Given the description of an element on the screen output the (x, y) to click on. 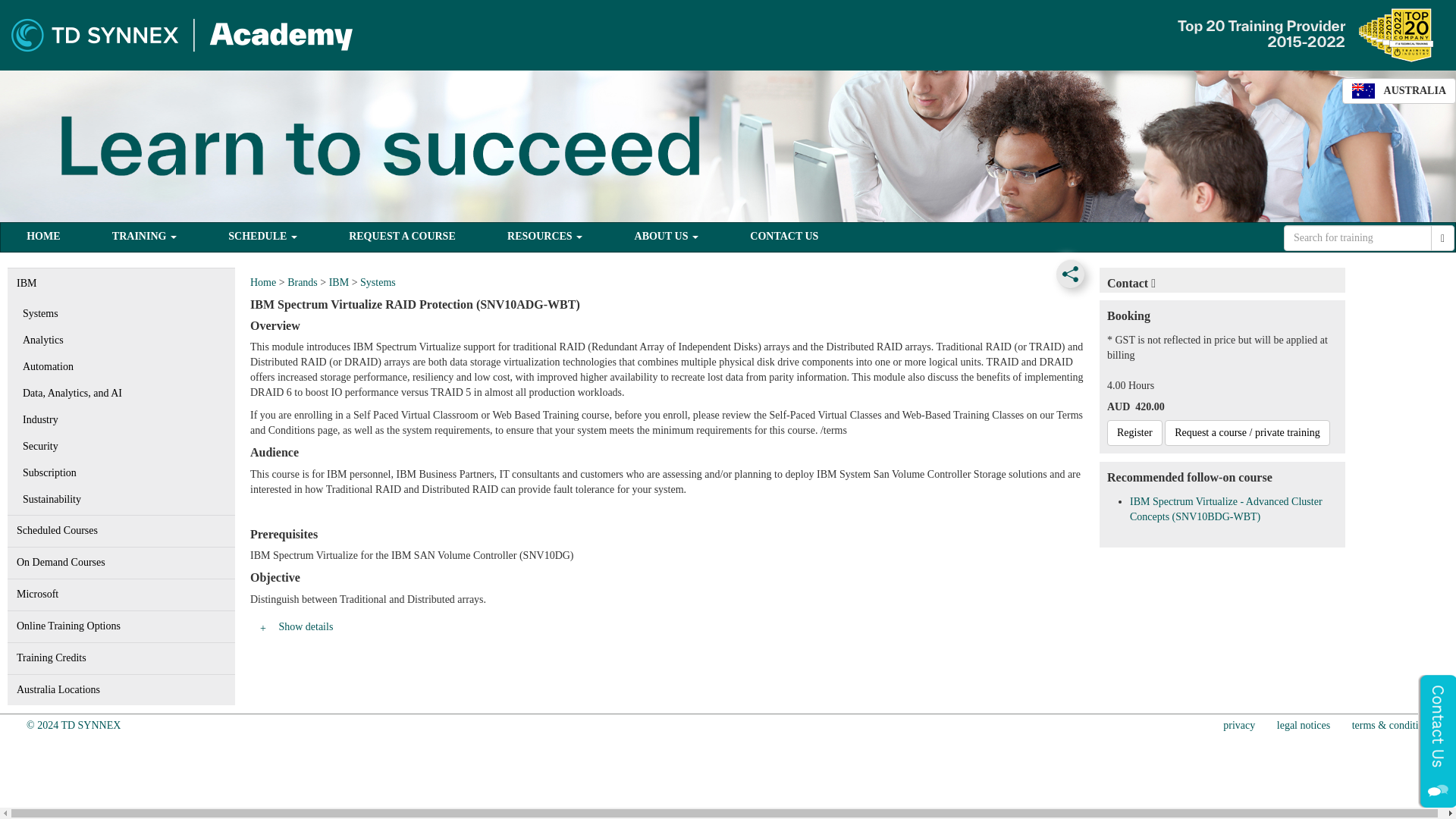
Data, Analytics, and AI (120, 393)
CONTACT US (783, 236)
Industry (120, 419)
Analytics (120, 340)
AUSTRALIA (1399, 90)
SCHEDULE (262, 236)
IBM (120, 283)
Systems (120, 313)
TRAINING (143, 236)
Security (120, 445)
20190426 (73, 725)
REQUEST A COURSE (402, 236)
ABOUT US (666, 236)
Automation (120, 366)
HOME (42, 236)
